Given the description of an element on the screen output the (x, y) to click on. 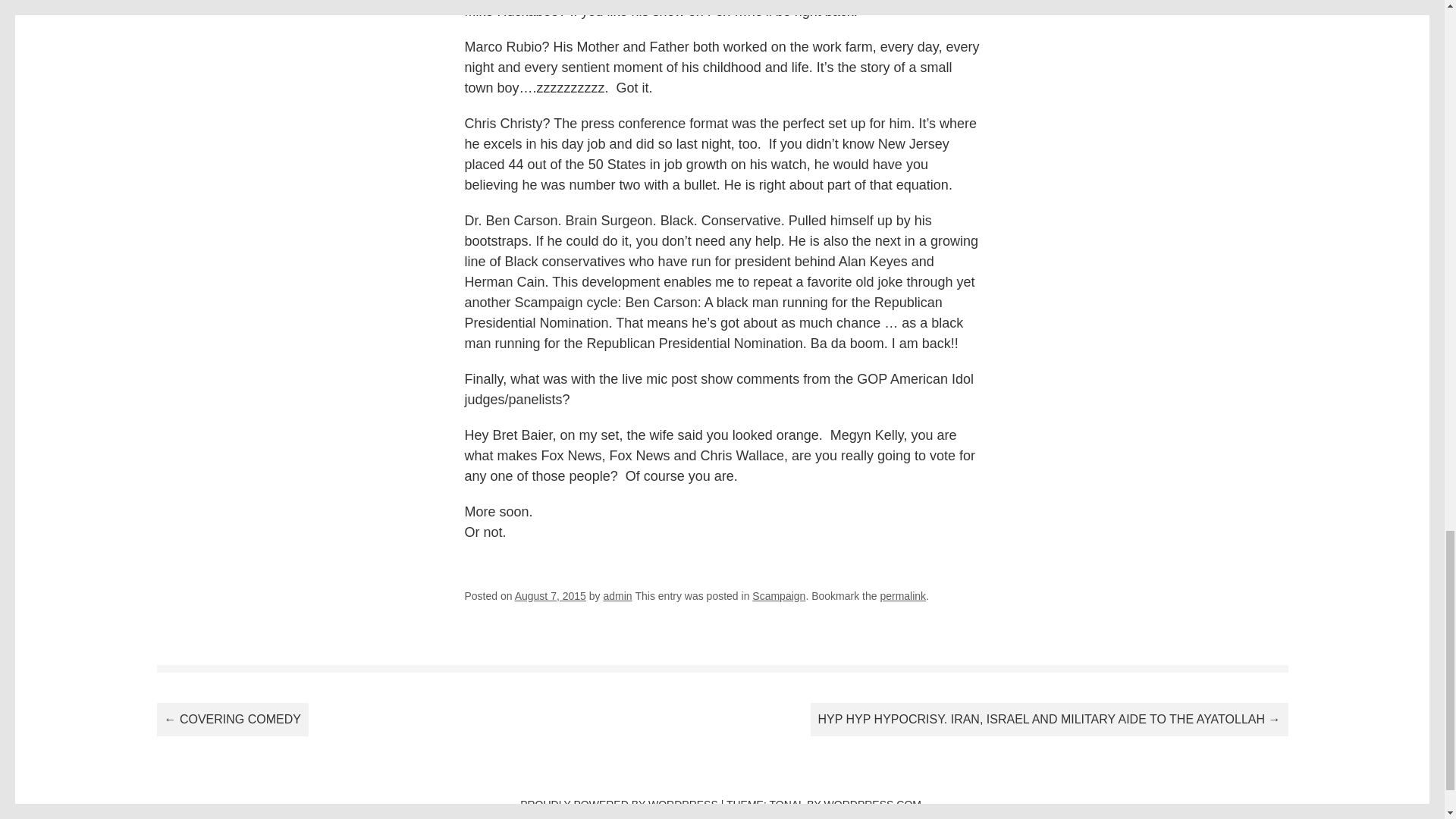
Scampaign (778, 595)
August 7, 2015 (550, 595)
admin (616, 595)
